Given the description of an element on the screen output the (x, y) to click on. 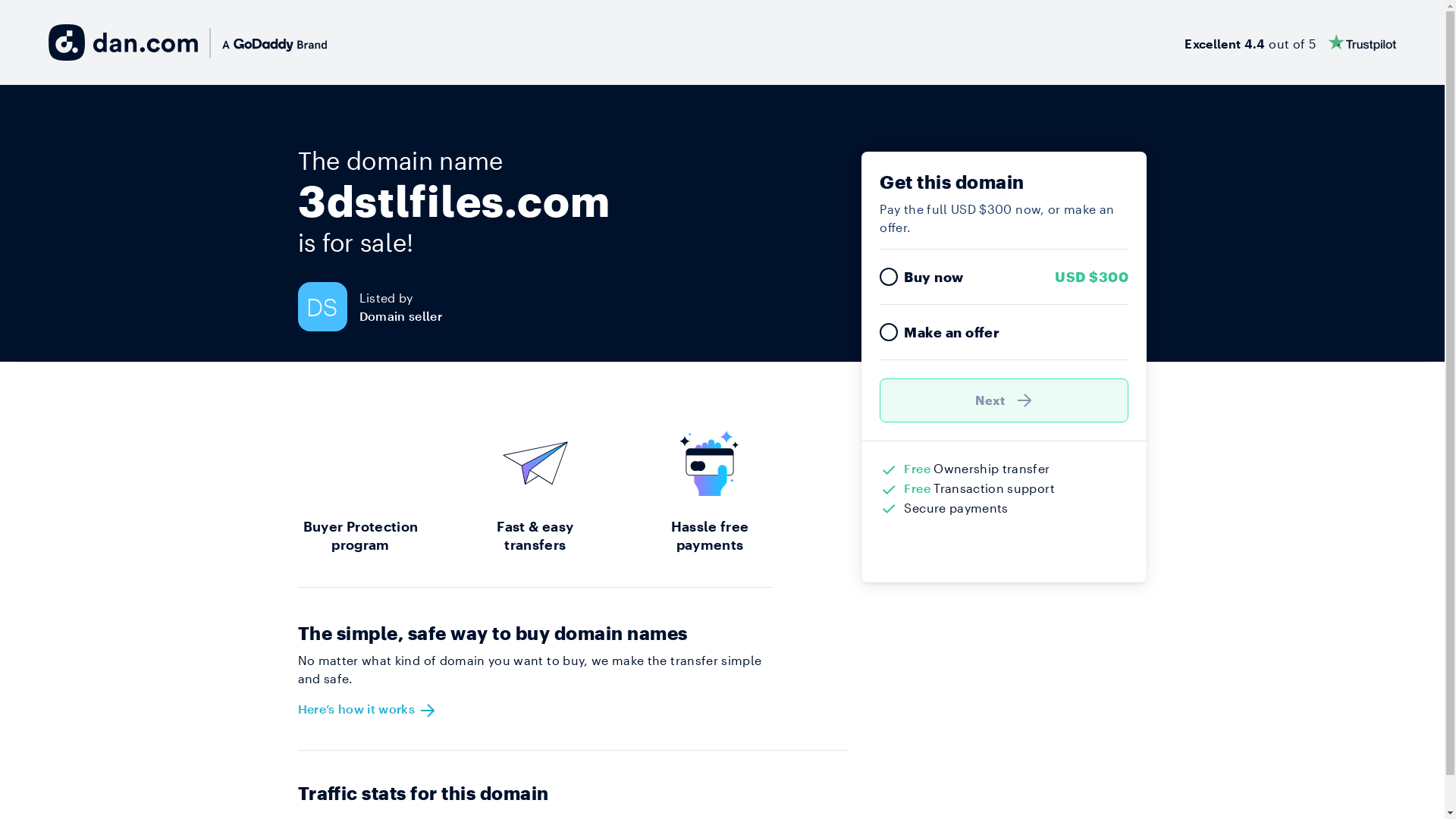
Excellent 4.4 out of 5 Element type: text (1290, 42)
Next
) Element type: text (1003, 400)
DS Element type: text (327, 306)
